Given the description of an element on the screen output the (x, y) to click on. 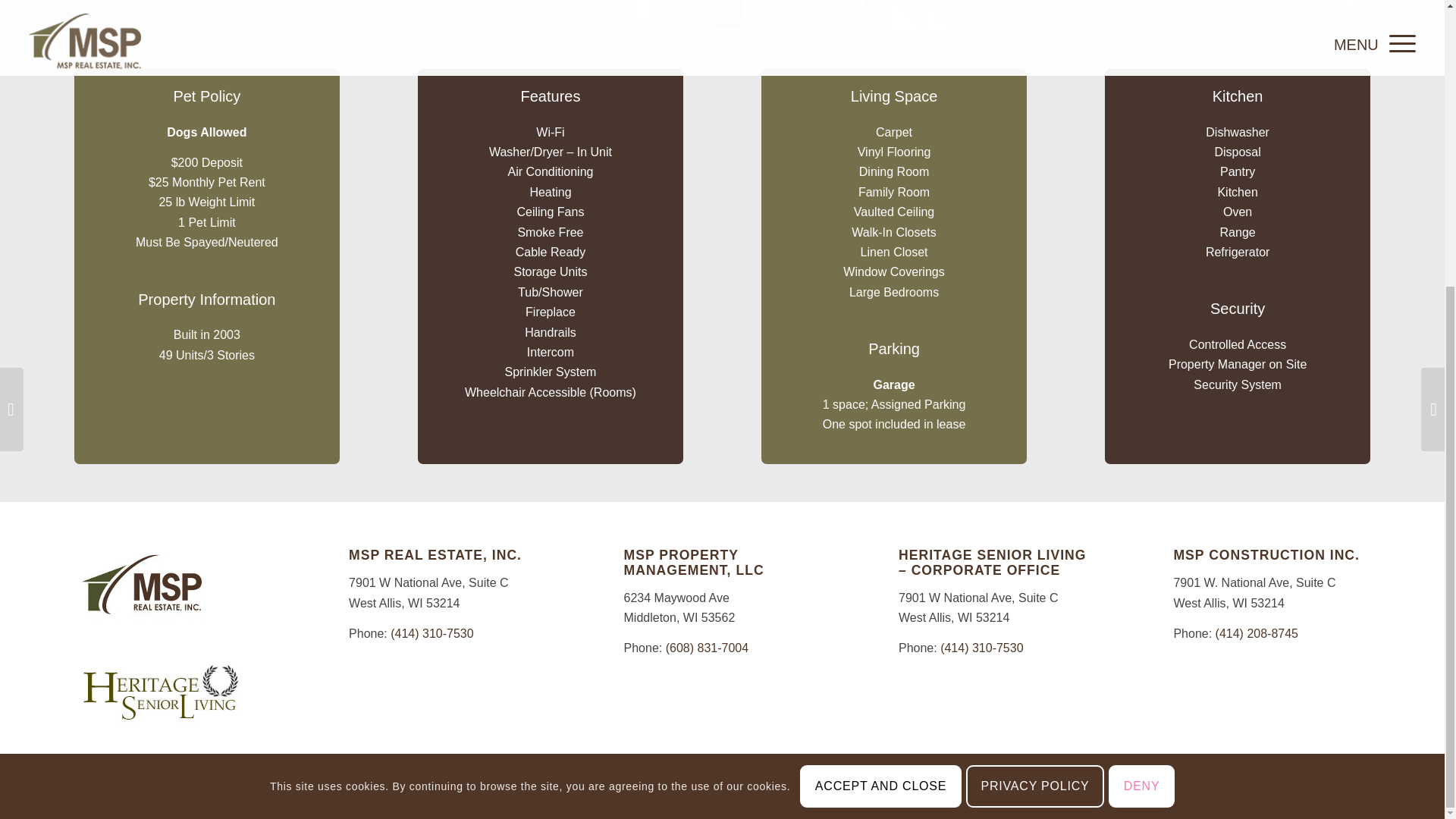
PRIVACY POLICY (1034, 353)
west allis web design (235, 796)
DENY (1141, 353)
Privacy Policy (1243, 795)
ACCEPT AND CLOSE (879, 353)
Terms of Service (1316, 795)
